Given the description of an element on the screen output the (x, y) to click on. 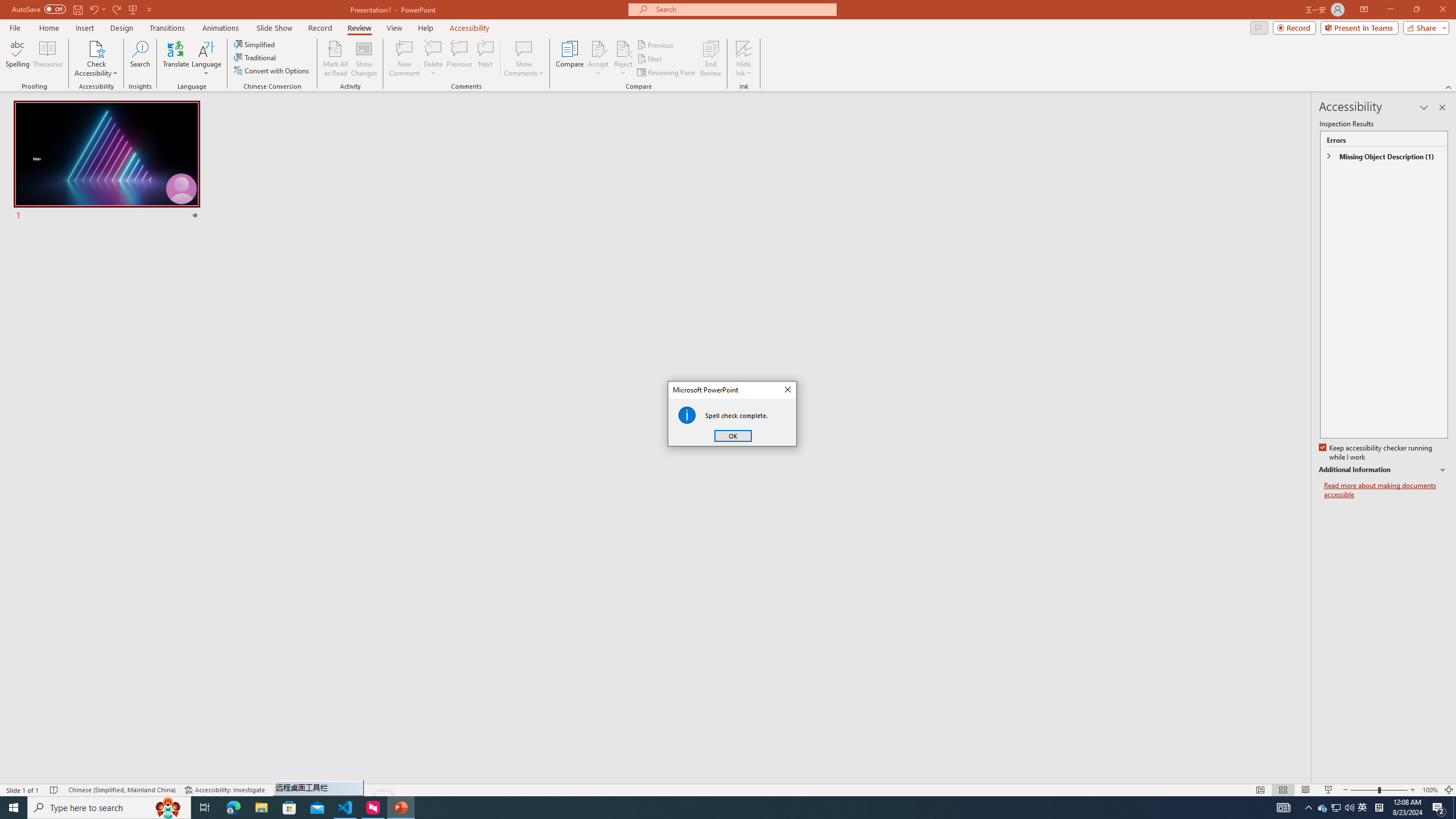
OK (732, 435)
